Given the description of an element on the screen output the (x, y) to click on. 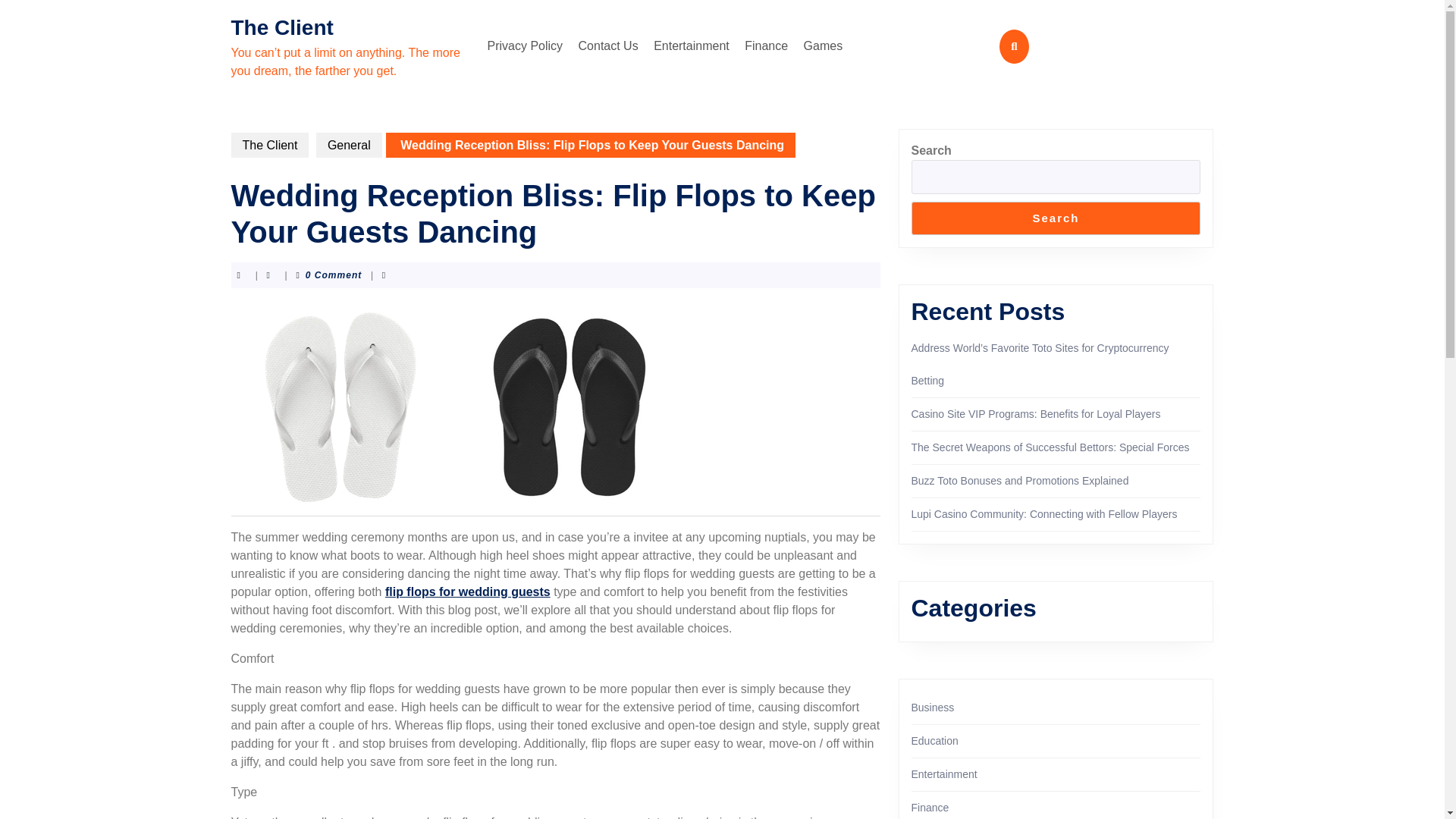
Finance (765, 46)
General (348, 145)
Entertainment (943, 774)
Education (934, 740)
Search (1056, 218)
Privacy Policy (524, 46)
Games (822, 46)
flip flops for wedding guests (467, 591)
Business (933, 707)
Lupi Casino Community: Connecting with Fellow Players (1044, 513)
The Secret Weapons of Successful Bettors: Special Forces (1050, 447)
Contact Us (608, 46)
Buzz Toto Bonuses and Promotions Explained (1020, 480)
Finance (930, 807)
Entertainment (691, 46)
